Given the description of an element on the screen output the (x, y) to click on. 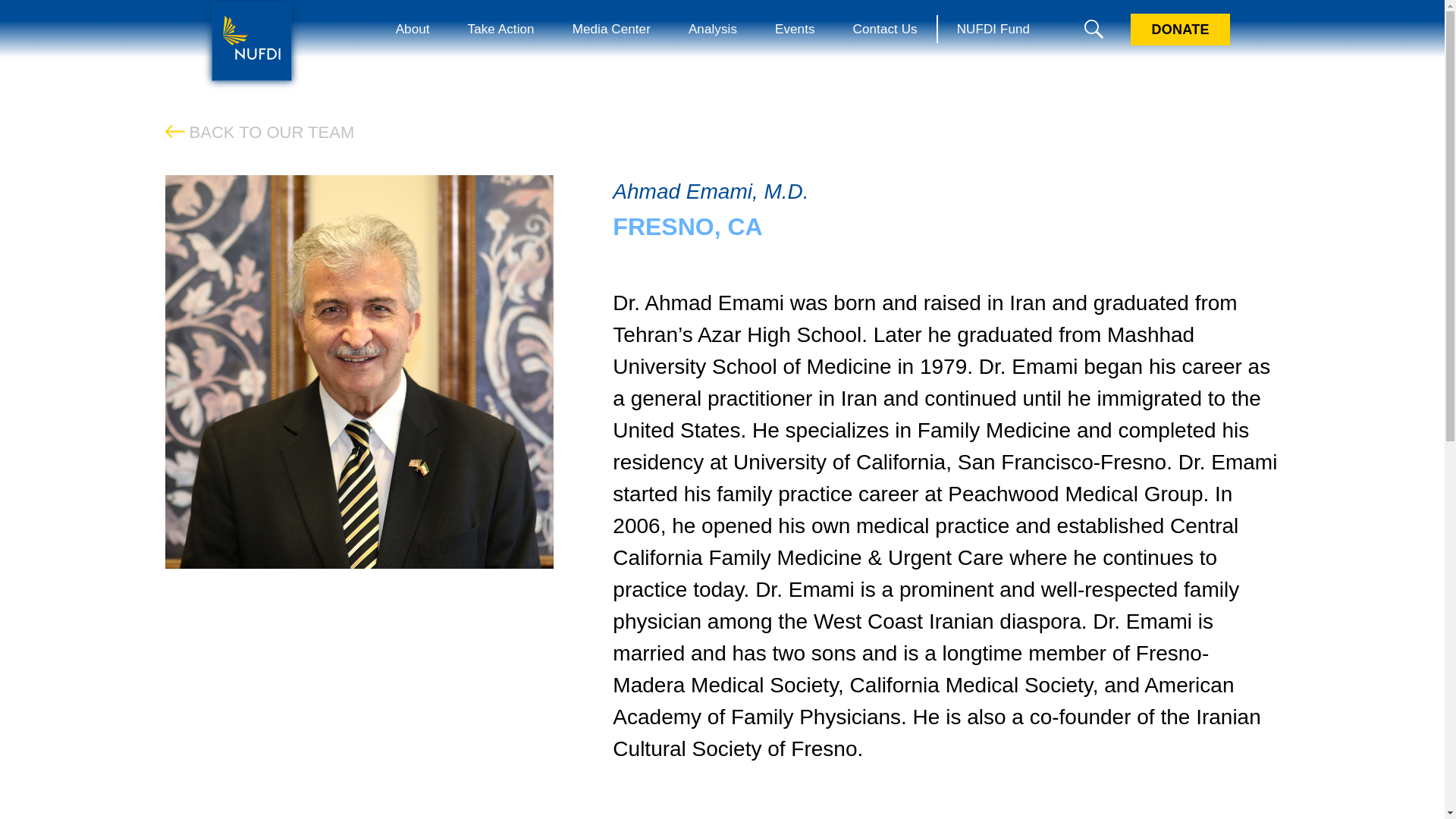
About (412, 29)
Events (794, 29)
Analysis (712, 29)
NUFDI Fund (992, 29)
Contact Us (885, 29)
Media Center (611, 29)
Take Action (500, 29)
DONATE (1180, 29)
